Given the description of an element on the screen output the (x, y) to click on. 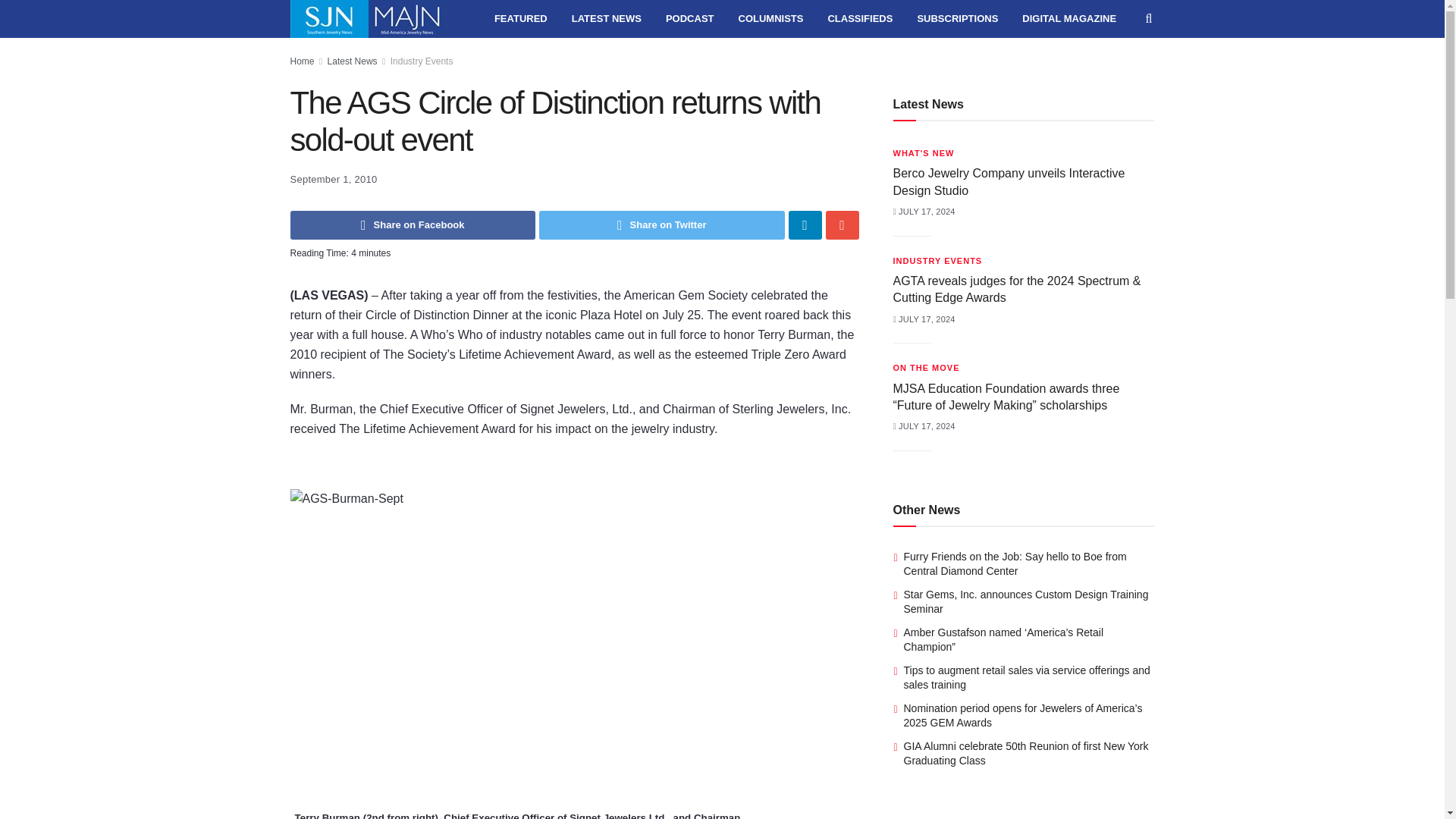
LATEST NEWS (606, 18)
FEATURED (520, 18)
